Given the description of an element on the screen output the (x, y) to click on. 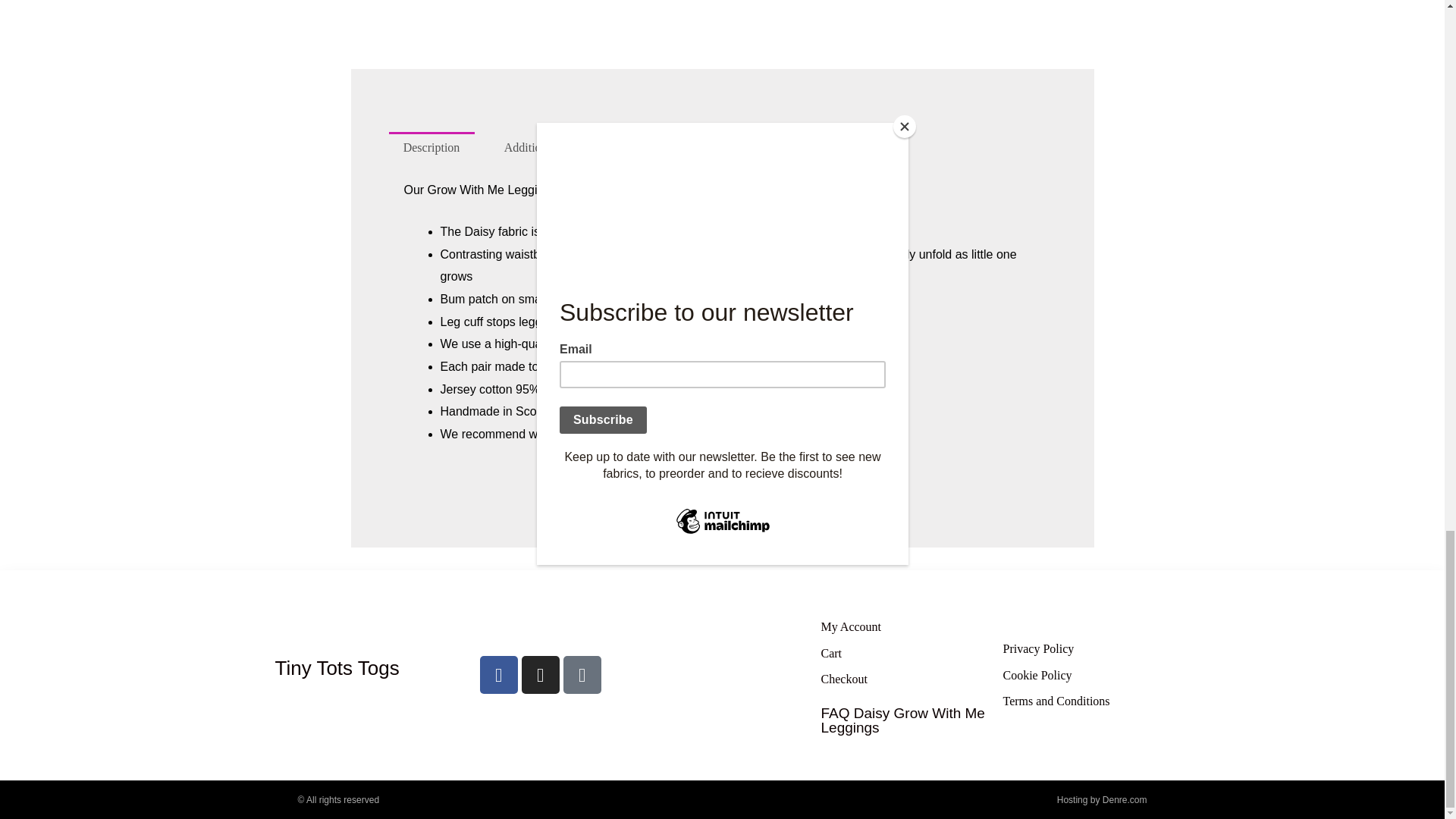
Additional information (559, 147)
Description (431, 147)
